Given the description of an element on the screen output the (x, y) to click on. 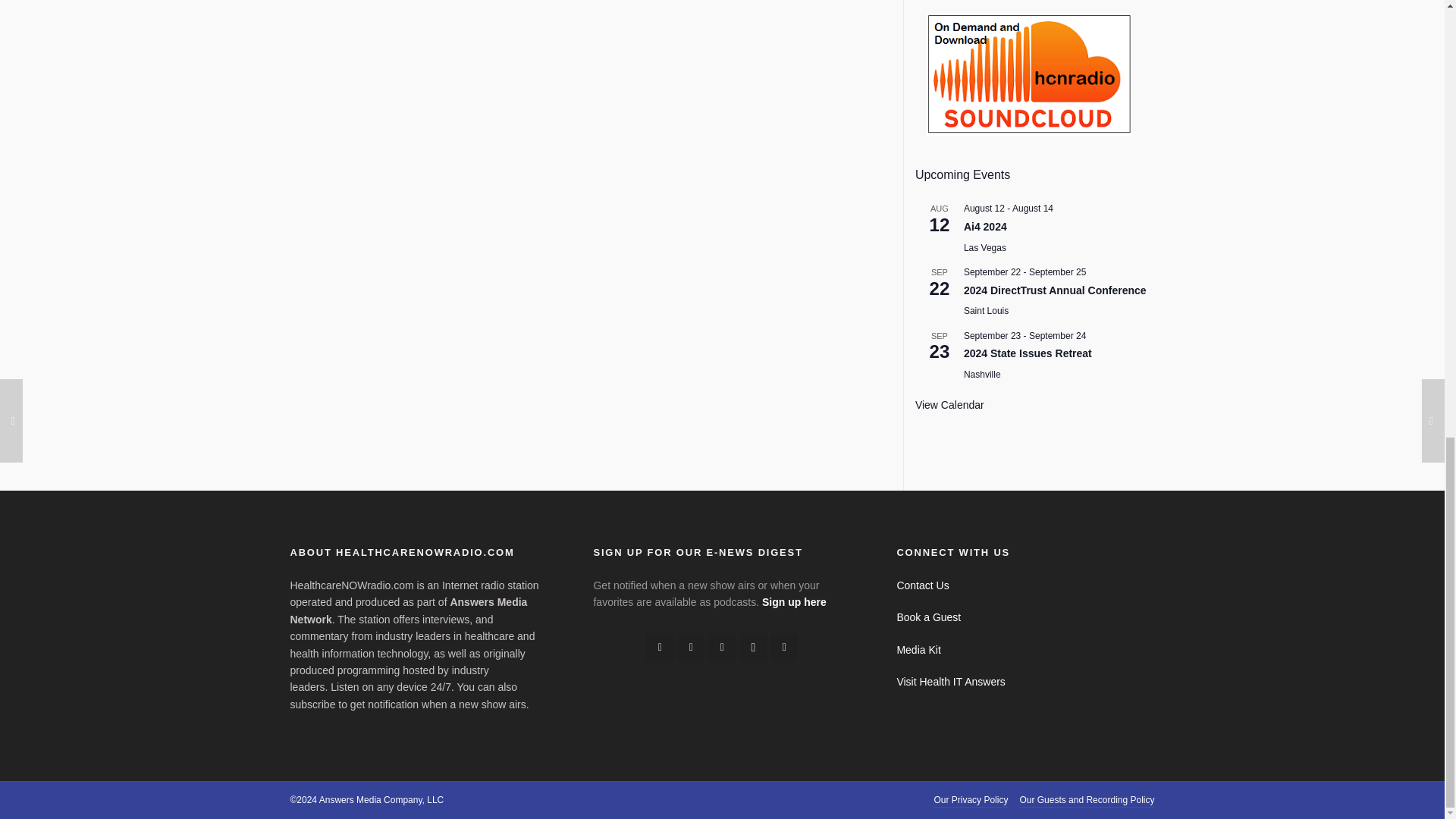
View more events. (949, 404)
2024 State Issues Retreat (1027, 353)
Ai4 2024 (985, 226)
2024 DirectTrust Annual Conference (1055, 290)
